Given the description of an element on the screen output the (x, y) to click on. 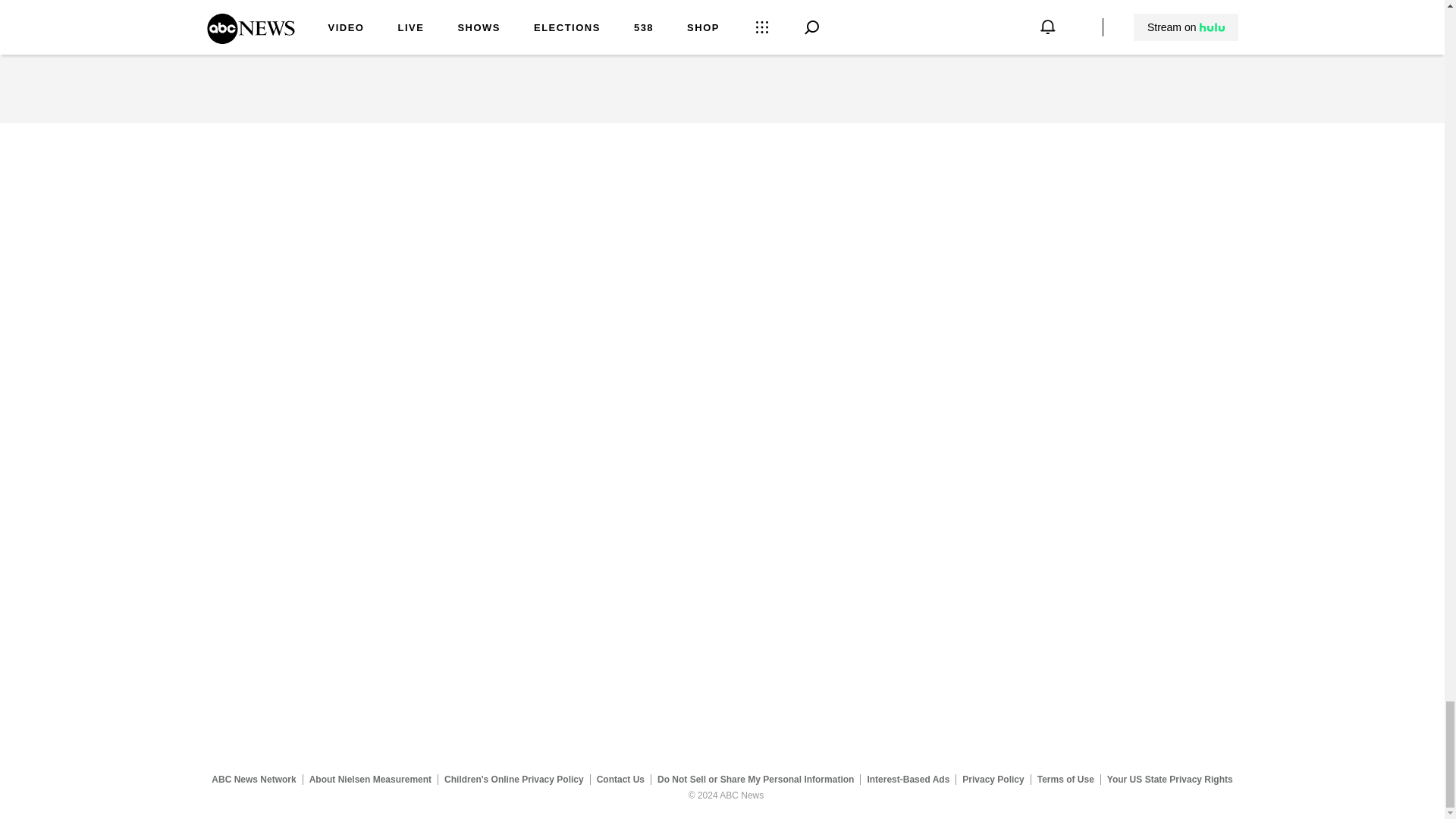
About Nielsen Measurement (370, 778)
Privacy Policy (993, 778)
Interest-Based Ads (908, 778)
ABC News Network (253, 778)
Contact Us (620, 778)
Do Not Sell or Share My Personal Information (755, 778)
Children's Online Privacy Policy (514, 778)
